Given the description of an element on the screen output the (x, y) to click on. 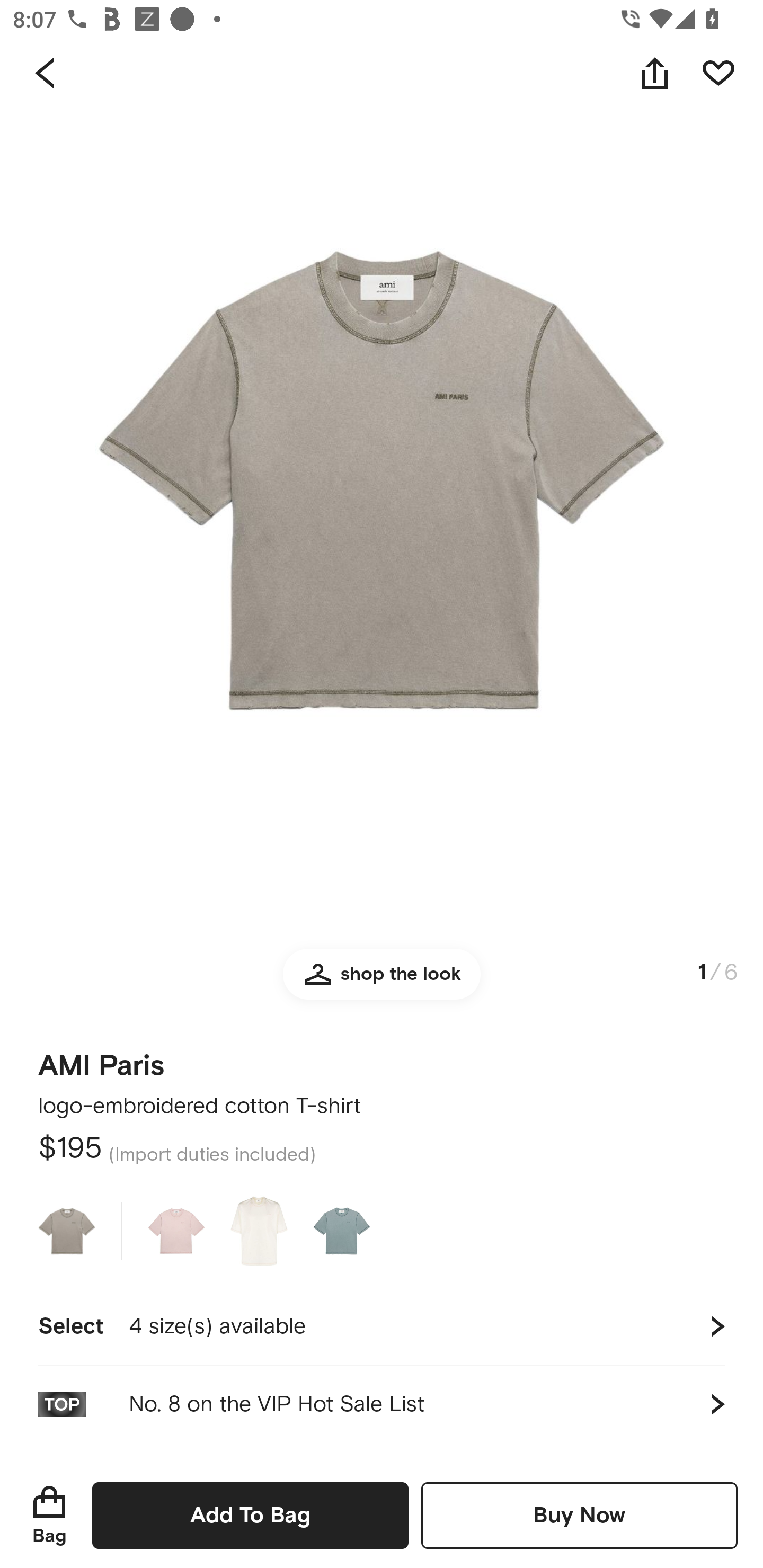
shop the look (381, 982)
AMI Paris (101, 1059)
Select 4 size(s) available (381, 1326)
No. 8 on the VIP Hot Sale List (381, 1403)
Bag (49, 1515)
Add To Bag (250, 1515)
Buy Now (579, 1515)
